Given the description of an element on the screen output the (x, y) to click on. 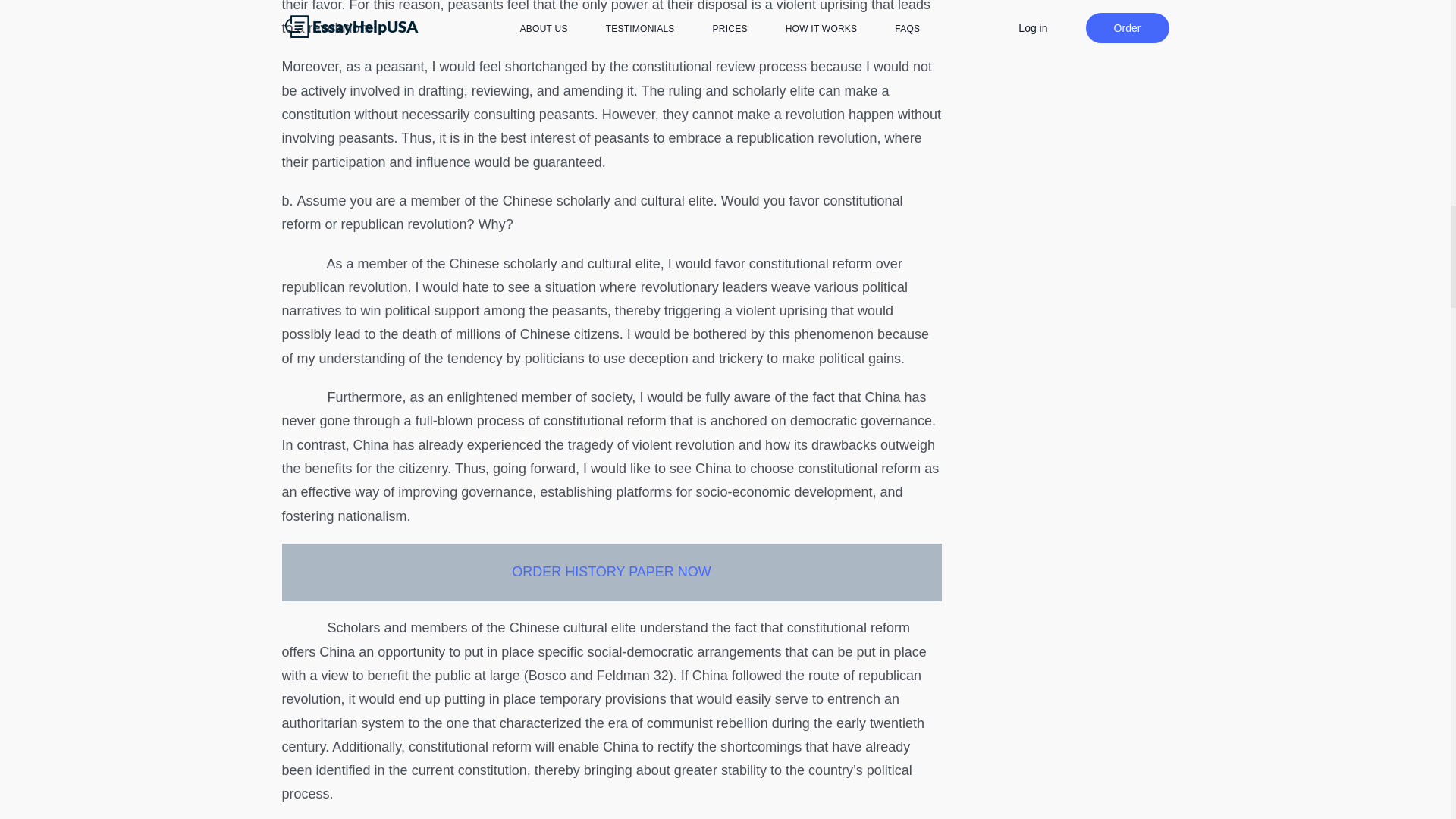
ORDER HISTORY PAPER NOW (611, 571)
